Given the description of an element on the screen output the (x, y) to click on. 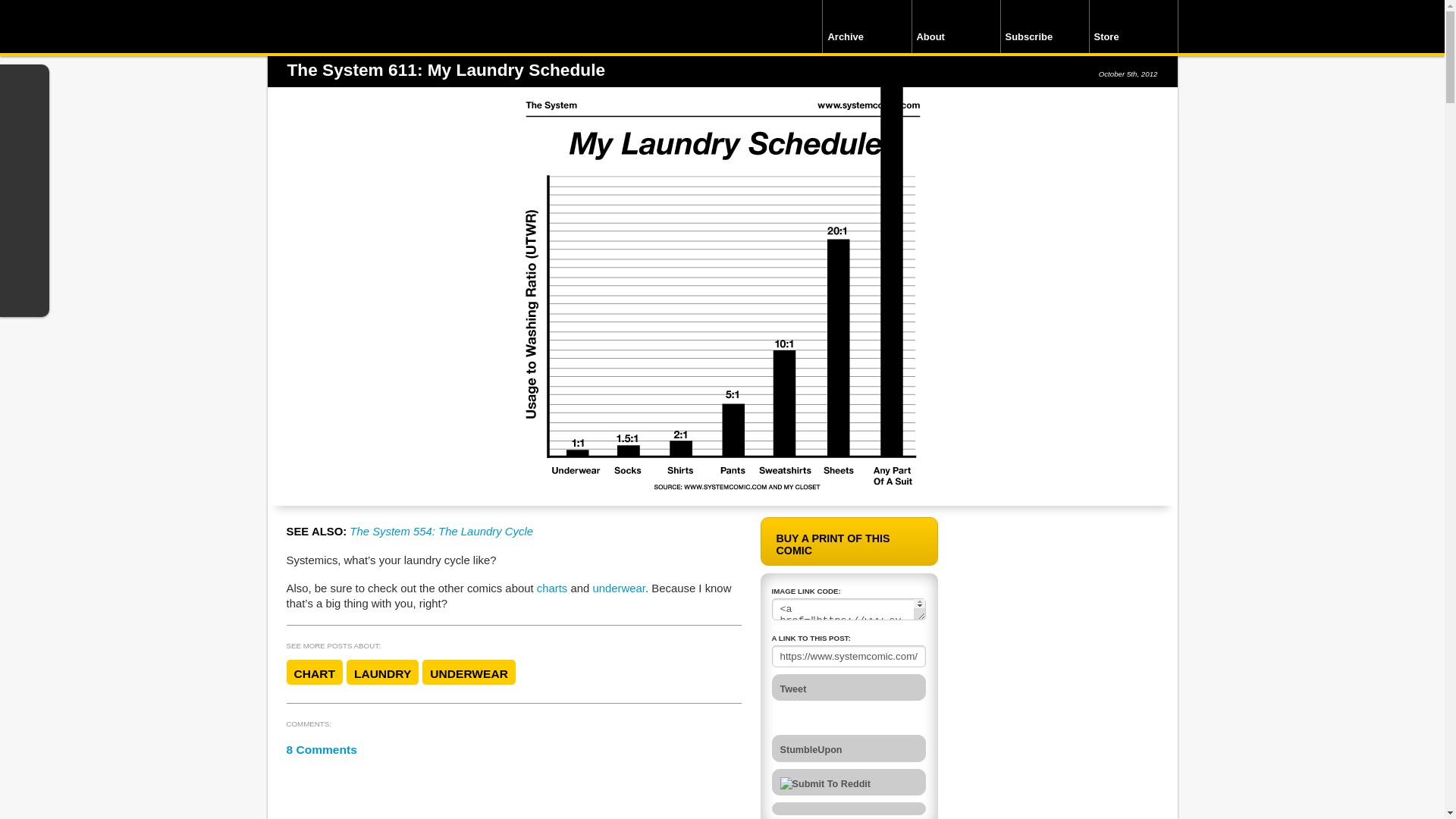
Archive (866, 26)
BUY A PRINT OF THIS COMIC (848, 540)
LAUNDRY (382, 672)
StumbleUpon (848, 747)
About (956, 26)
Tweet (848, 687)
The System: Comics will be posted until morale improves. (383, 30)
8 Comments (321, 748)
charts (552, 588)
UNDERWEAR (468, 672)
